Given the description of an element on the screen output the (x, y) to click on. 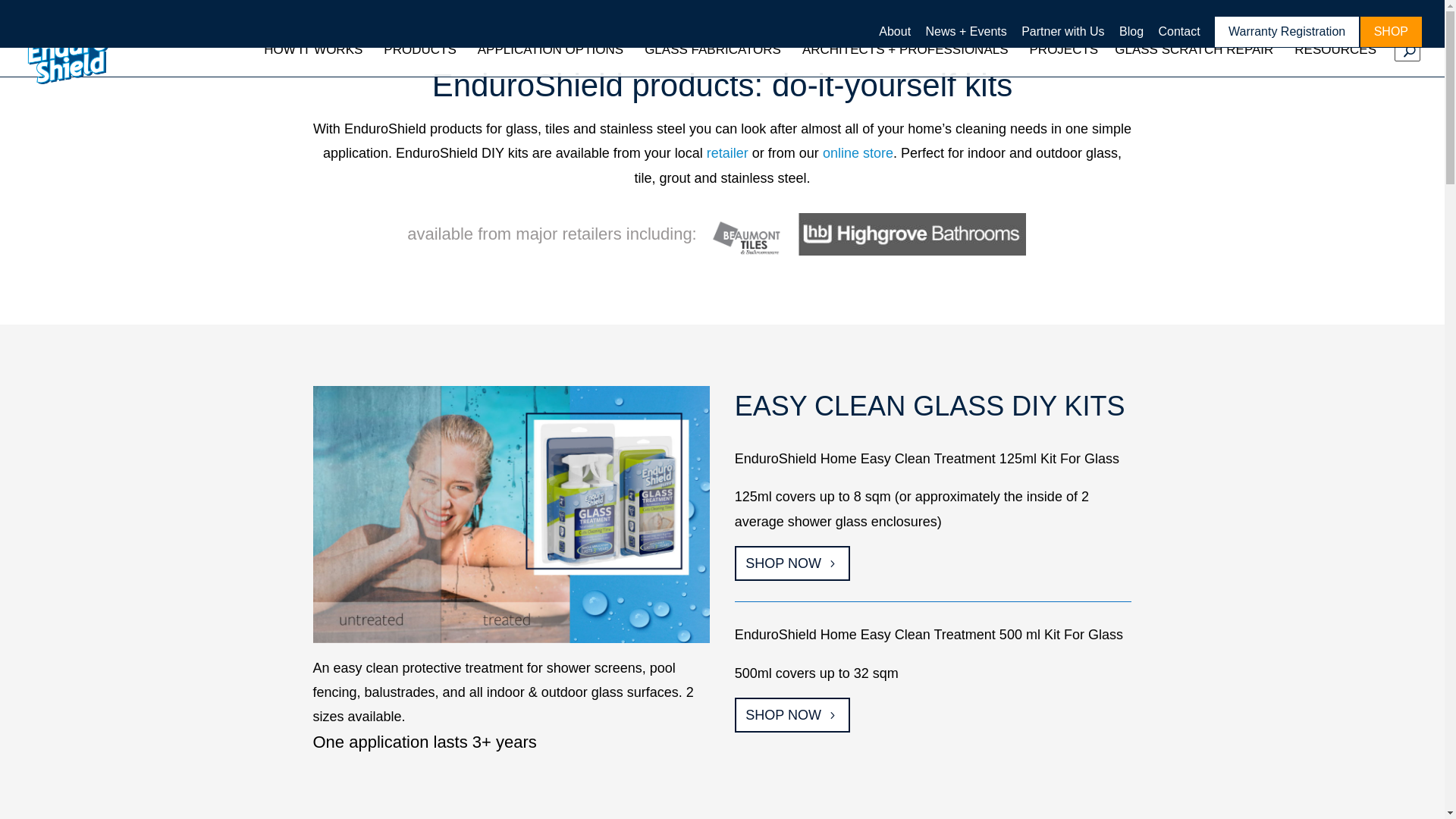
Warranty Registration Element type: text (1286, 31)
PROJECTS Element type: text (1072, 49)
HOW IT WORKS Element type: text (323, 49)
RESOURCES Element type: text (1345, 49)
SHOP Element type: text (1390, 31)
PRODUCTS Element type: text (429, 49)
SHOP NOW Element type: text (792, 563)
ARCHITECTS + PROFESSIONALS Element type: text (915, 49)
APPLICATION OPTIONS Element type: text (560, 49)
GLASS SCRATCH REPAIR Element type: text (1204, 49)
online store Element type: text (857, 152)
News + Events Element type: text (966, 36)
Blog Element type: text (1131, 36)
Contact Element type: text (1178, 36)
GLASS FABRICATORS Element type: text (723, 49)
retailer Element type: text (727, 152)
About Element type: text (894, 36)
Partner with Us Element type: text (1062, 36)
SHOP NOW Element type: text (792, 714)
Search Element type: text (12, 7)
